Given the description of an element on the screen output the (x, y) to click on. 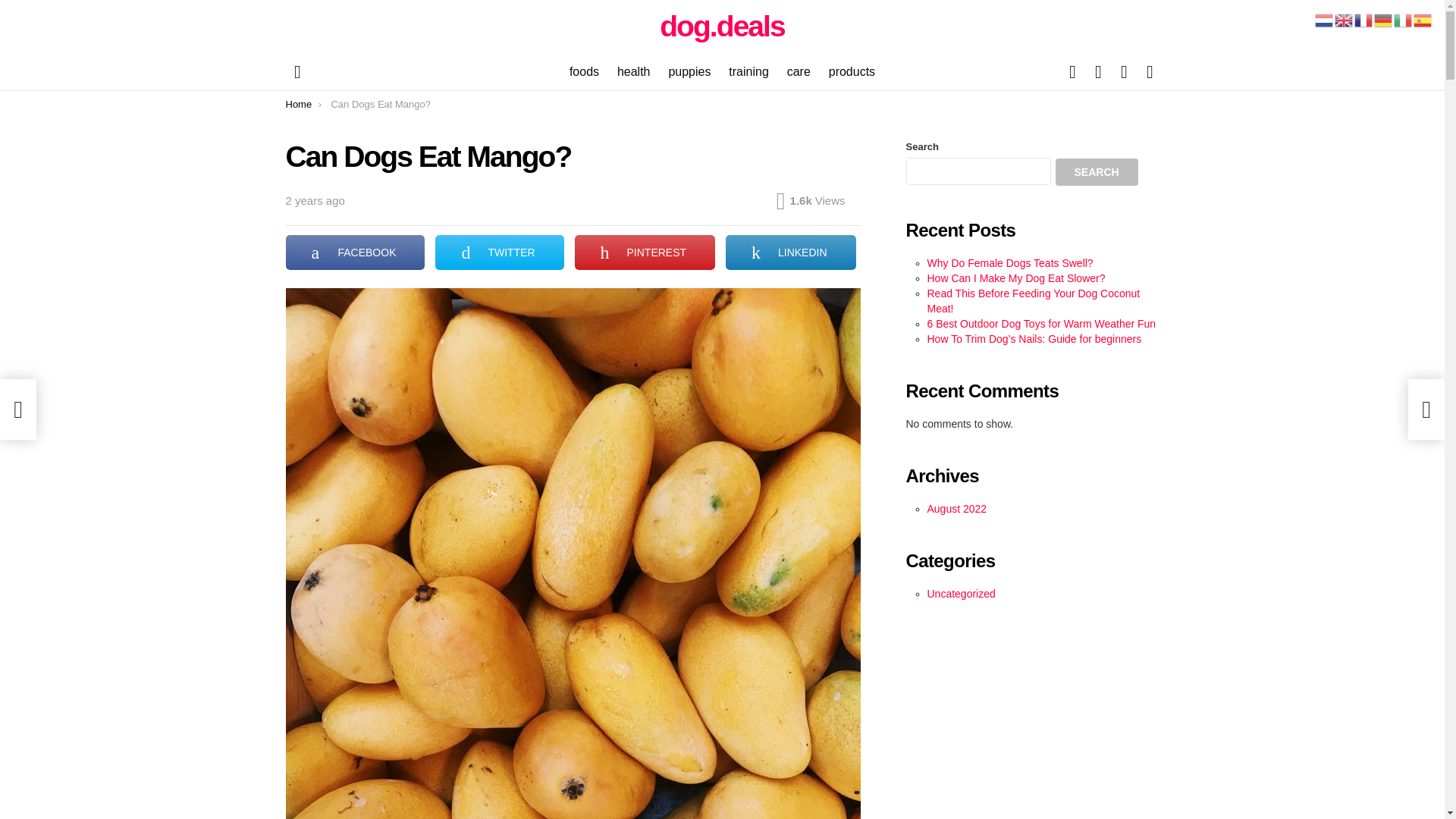
health (634, 71)
LINKEDIN (790, 252)
PINTEREST (644, 252)
Home (298, 103)
training (748, 71)
Share on LinkedIn (790, 252)
Share on Pinterest (644, 252)
products (851, 71)
Menu (296, 71)
August 1, 2022, 9:52 pm (314, 201)
